Given the description of an element on the screen output the (x, y) to click on. 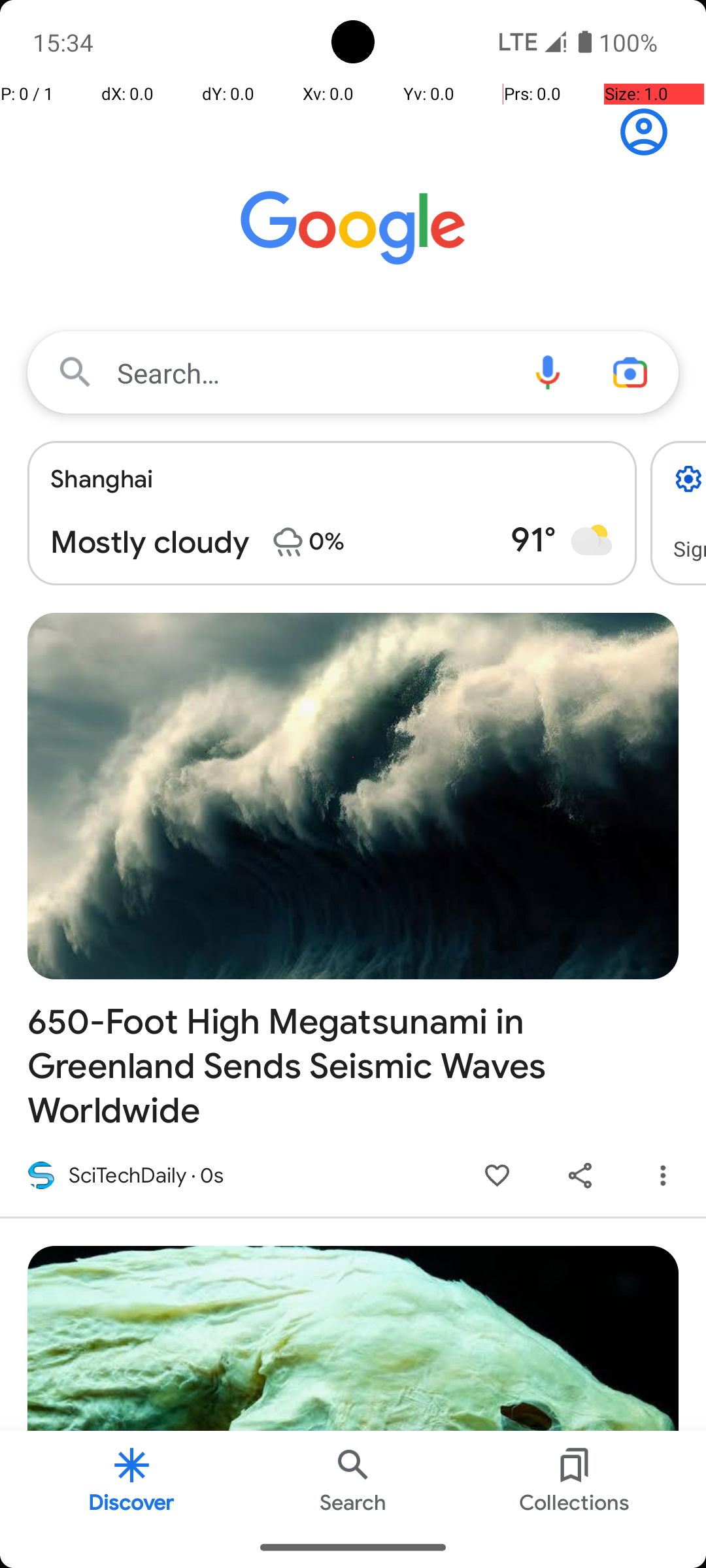
Sign in Element type: android.widget.FrameLayout (650, 131)
Camera search Element type: android.widget.ImageButton (629, 372)
Collections Button Element type: android.widget.FrameLayout (574, 1478)
Like Element type: android.view.ViewGroup (497, 1175)
Share 650-Foot High Megatsunami in Greenland Sends Seismic Waves Worldwide Element type: android.view.ViewGroup (580, 1175)
Chance of precipitation Element type: android.widget.ImageView (287, 541)
